Given the description of an element on the screen output the (x, y) to click on. 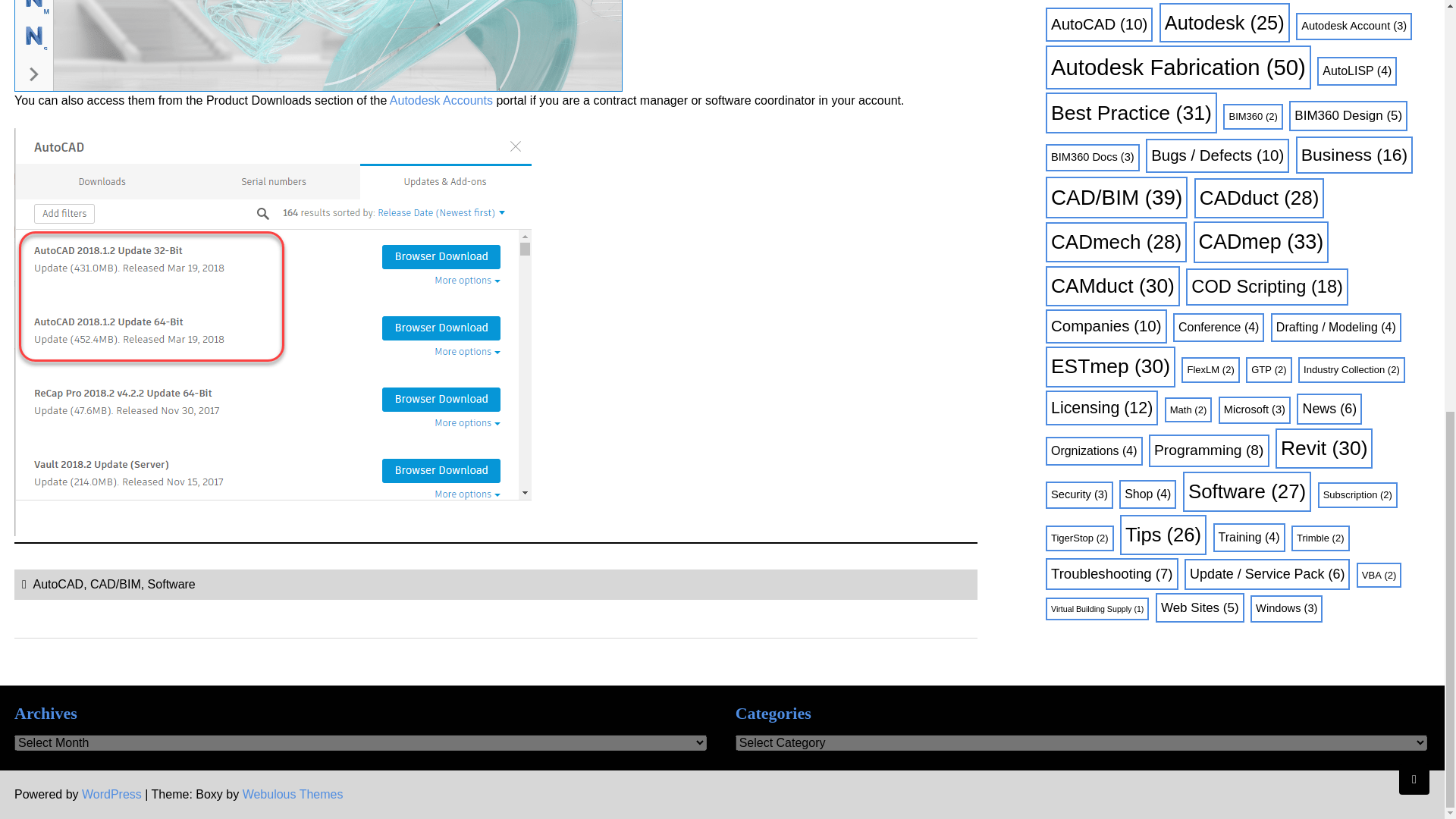
Autodesk Accounts (441, 100)
AutoCAD (57, 584)
Software (171, 584)
